Given the description of an element on the screen output the (x, y) to click on. 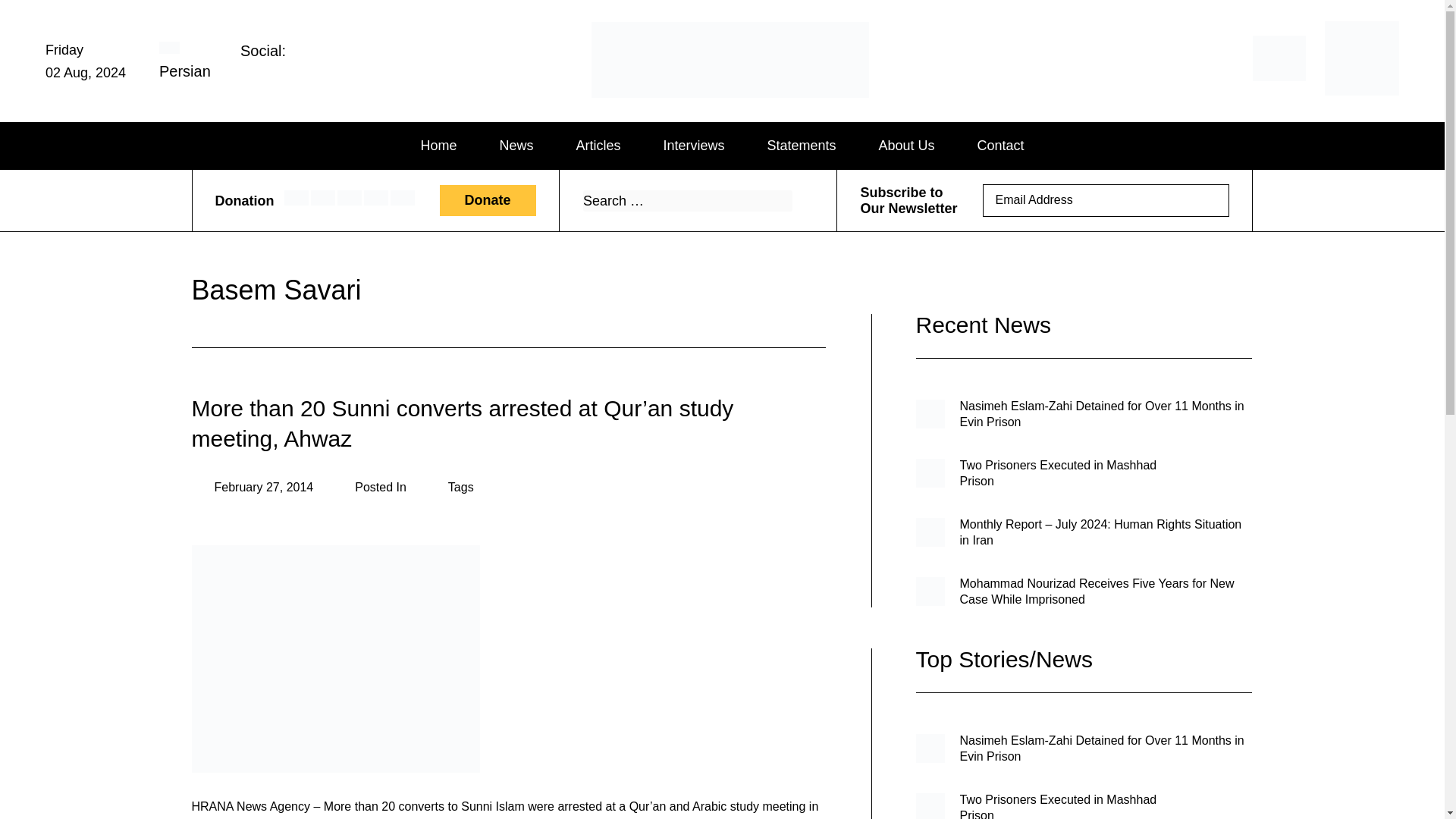
Search (801, 199)
Home (437, 145)
Search (801, 199)
Contact (1000, 145)
Sign up (1207, 200)
About Us (906, 145)
Sign up (1207, 200)
Interviews (693, 145)
News (515, 145)
Articles (598, 145)
